Given the description of an element on the screen output the (x, y) to click on. 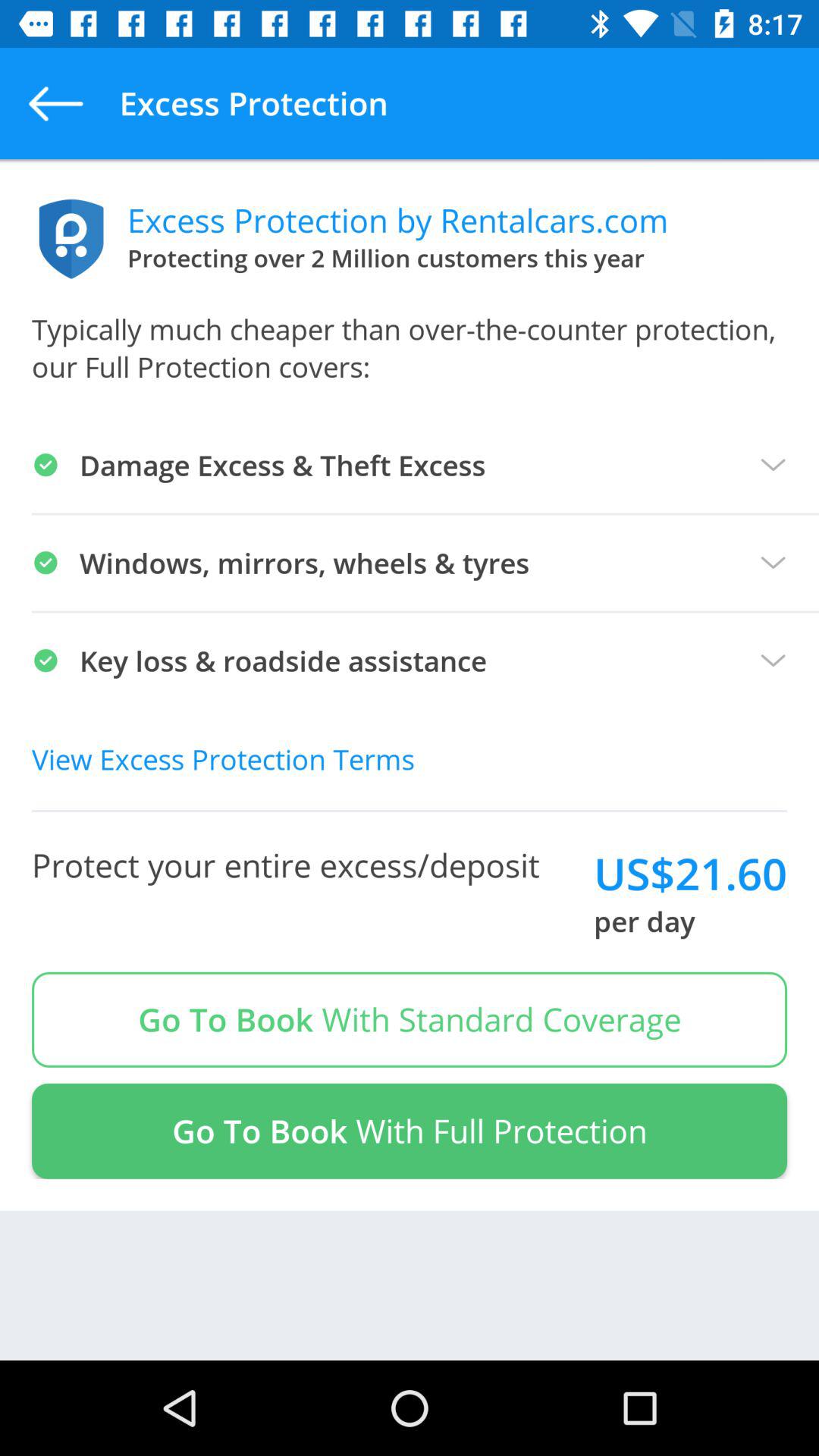
launch the app next to the excess protection item (55, 103)
